Given the description of an element on the screen output the (x, y) to click on. 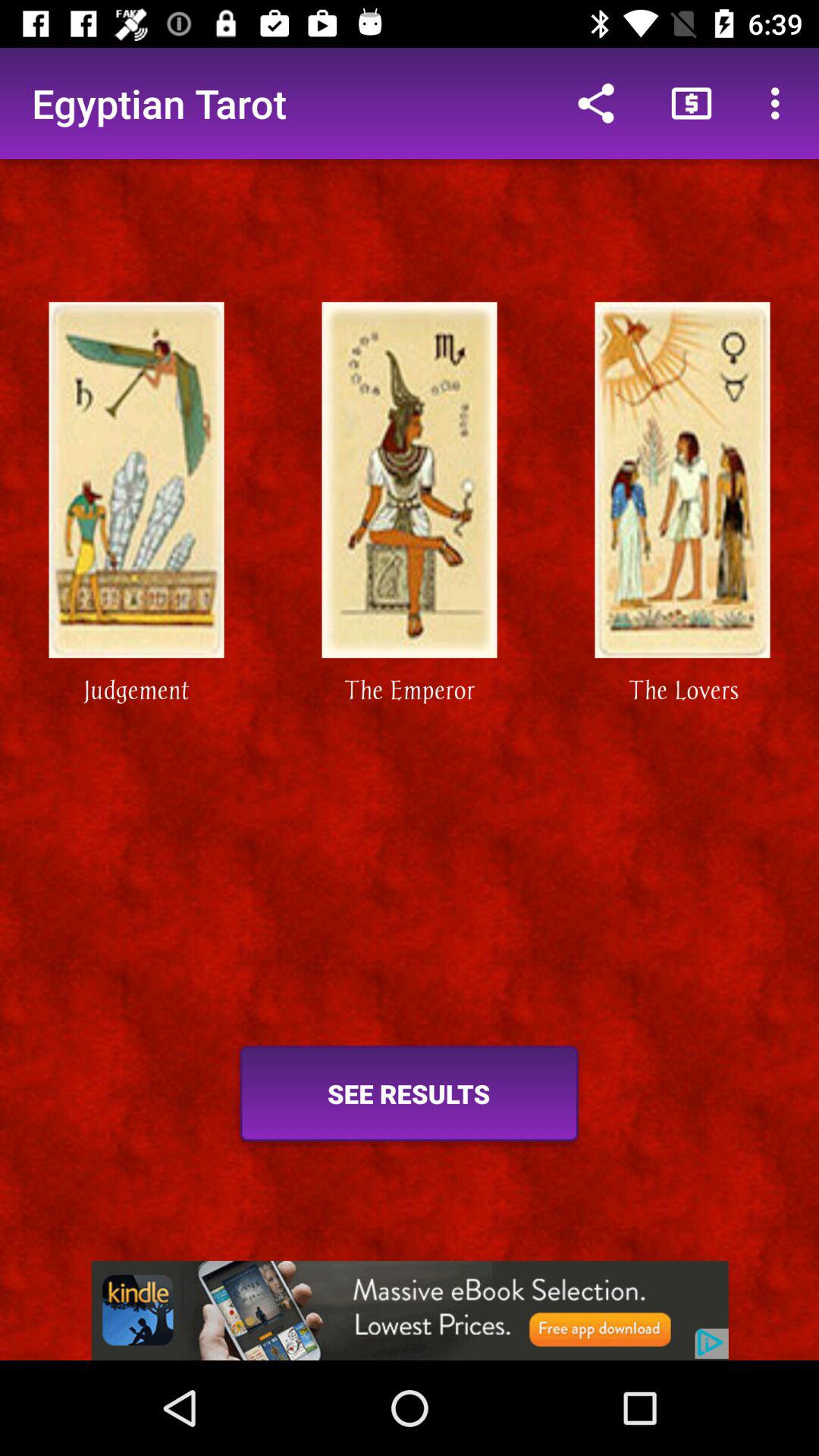
advertisement (409, 1310)
